Given the description of an element on the screen output the (x, y) to click on. 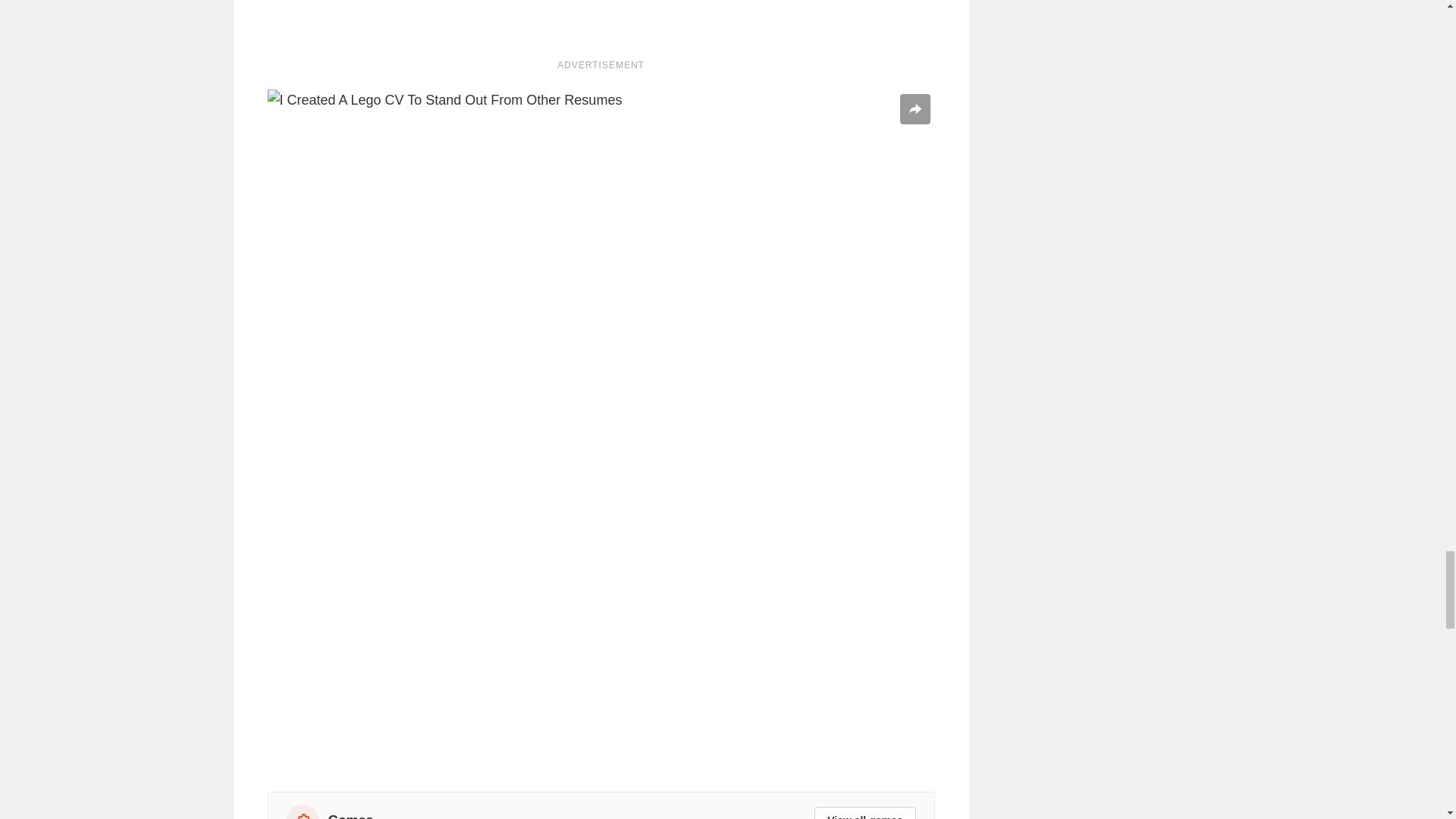
I Created A Lego CV To Stand Out From Other Resumes (600, 22)
Share icon (914, 109)
